Given the description of an element on the screen output the (x, y) to click on. 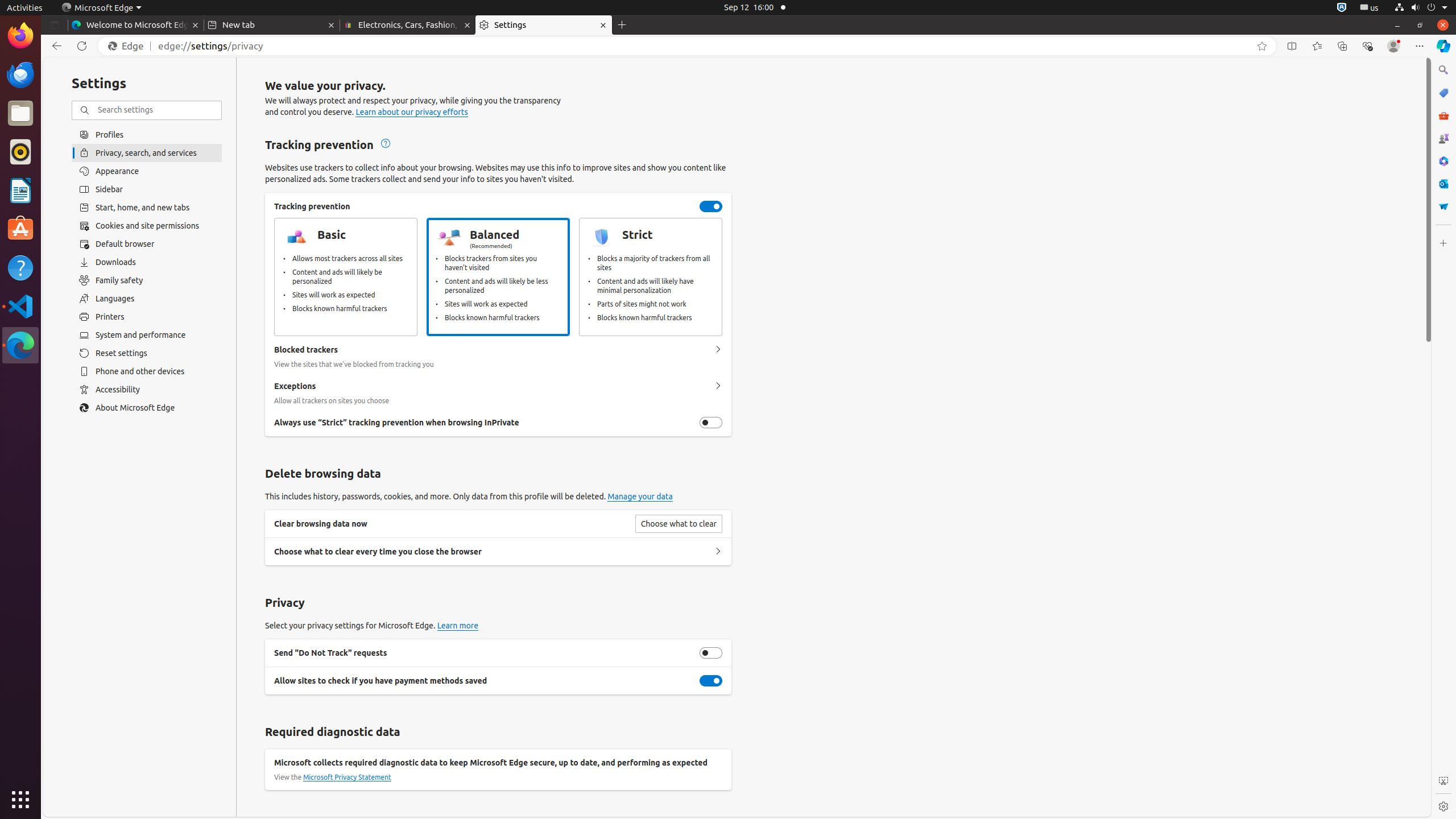
Family safety Element type: tree-item (146, 280)
Visual Studio Code Element type: push-button (20, 306)
